Given the description of an element on the screen output the (x, y) to click on. 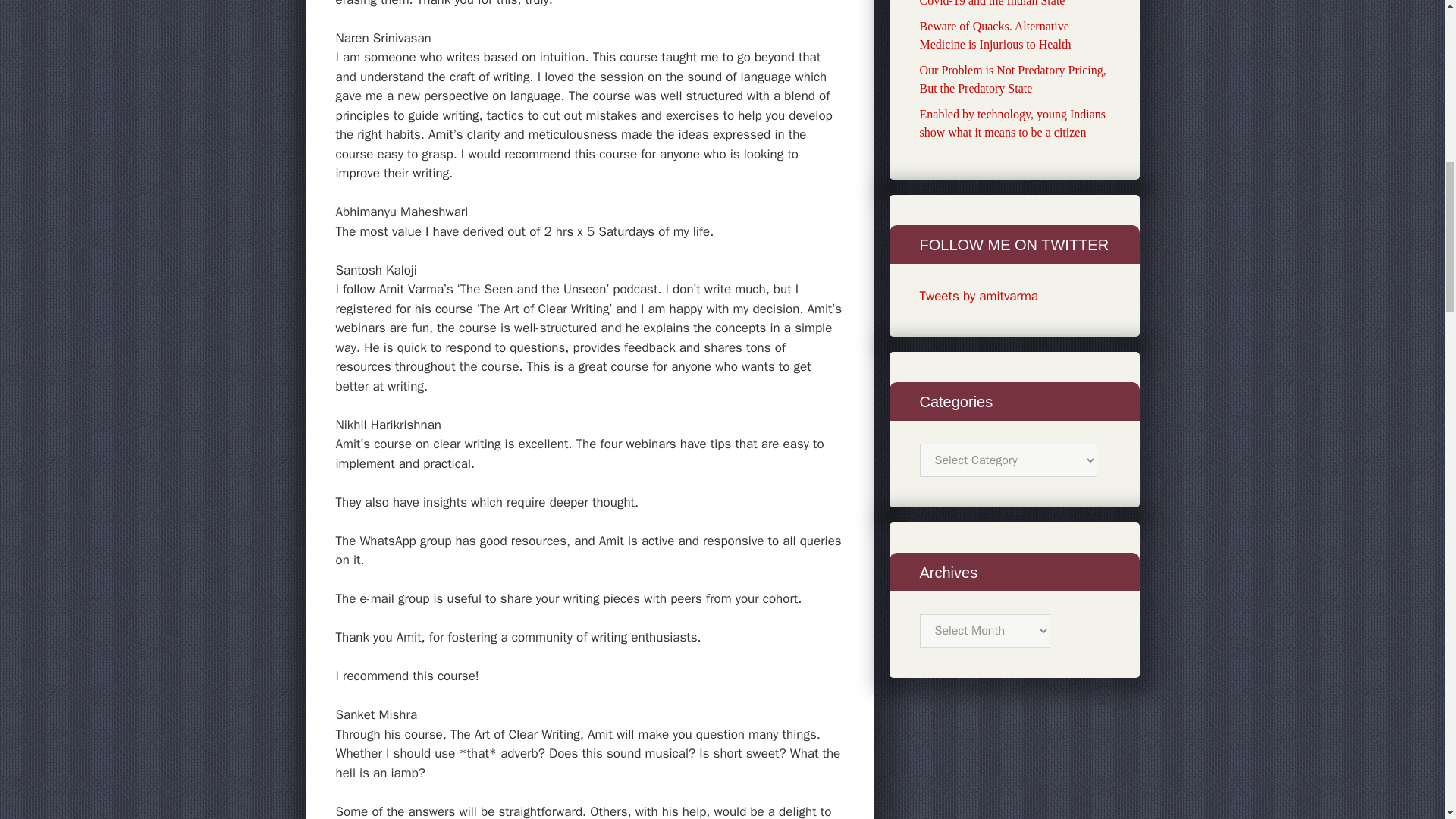
Tweets by amitvarma (978, 295)
We Are Fighting Two Disasters: Covid-19 and the Indian State (996, 3)
Scroll back to top (1406, 720)
